Given the description of an element on the screen output the (x, y) to click on. 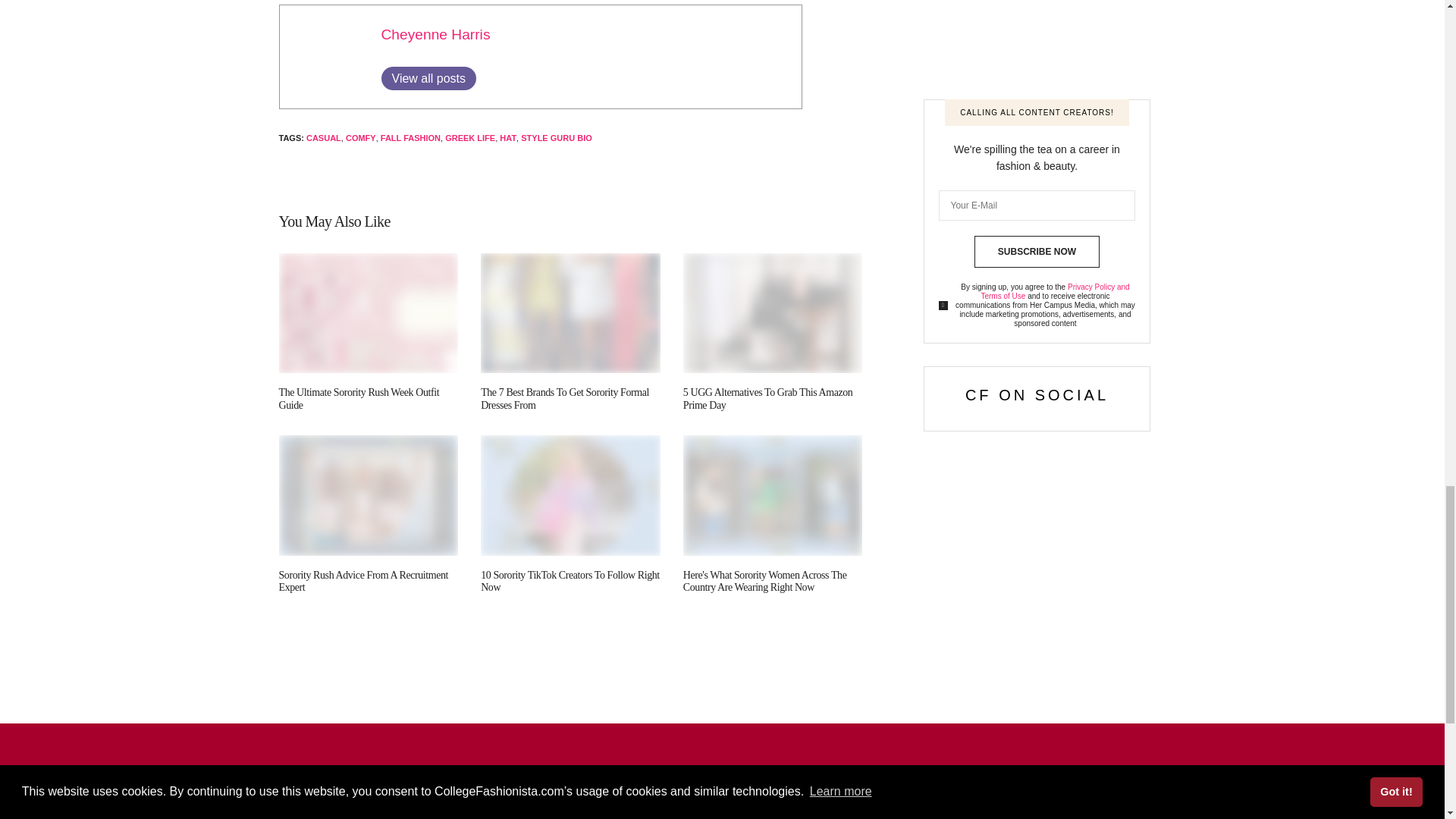
View all posts (428, 78)
STYLE GURU BIO: Cheyenne Harris 3 (327, 53)
The Ultimate Sorority Rush Week Outfit Guide 4 (368, 313)
Cheyenne Harris (434, 34)
Cheyenne Harris (434, 34)
